Given the description of an element on the screen output the (x, y) to click on. 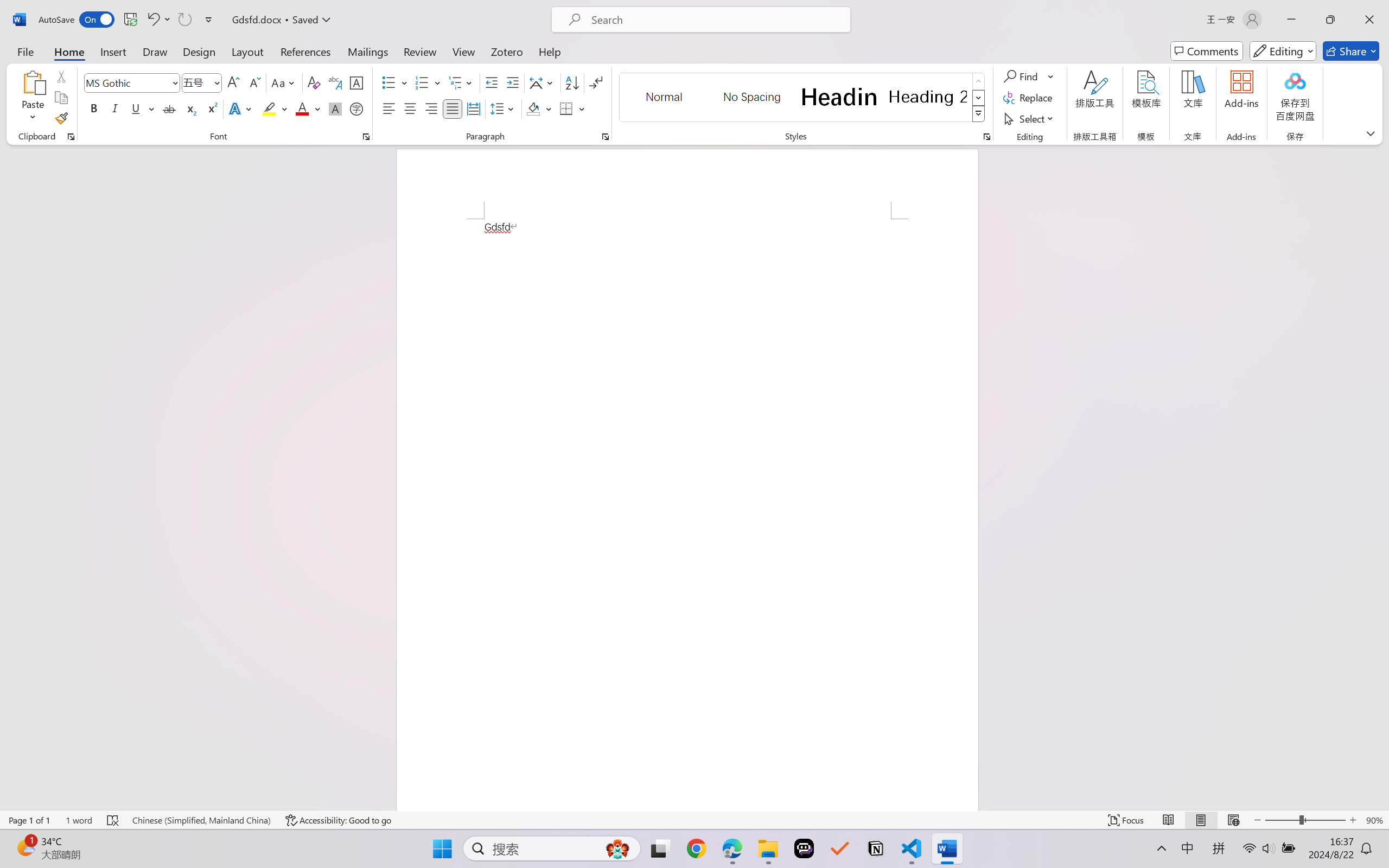
Styles (978, 113)
Zoom 90% (1374, 819)
Character Shading (334, 108)
Spelling and Grammar Check Errors (113, 819)
